Given the description of an element on the screen output the (x, y) to click on. 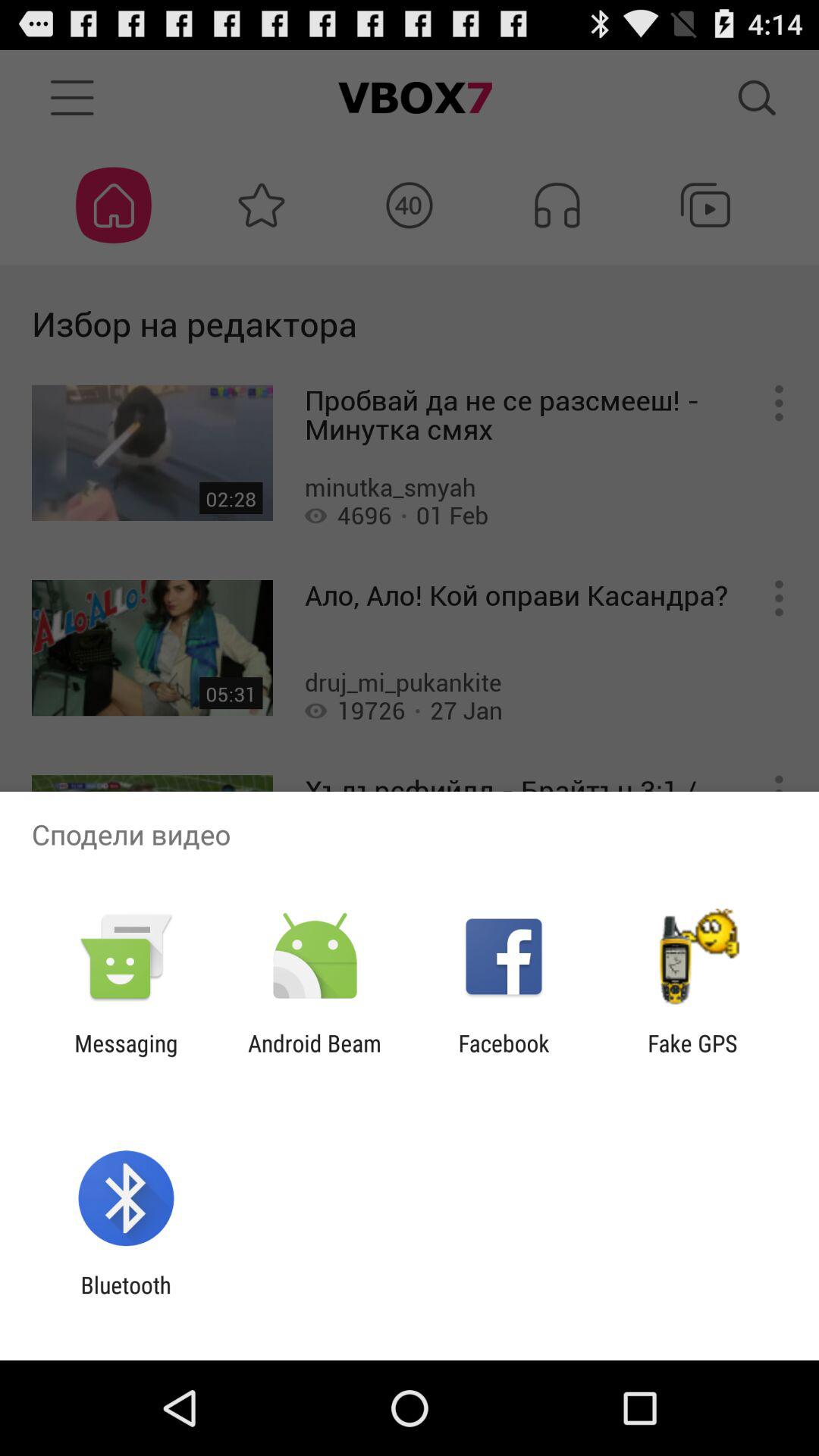
tap facebook app (503, 1056)
